Given the description of an element on the screen output the (x, y) to click on. 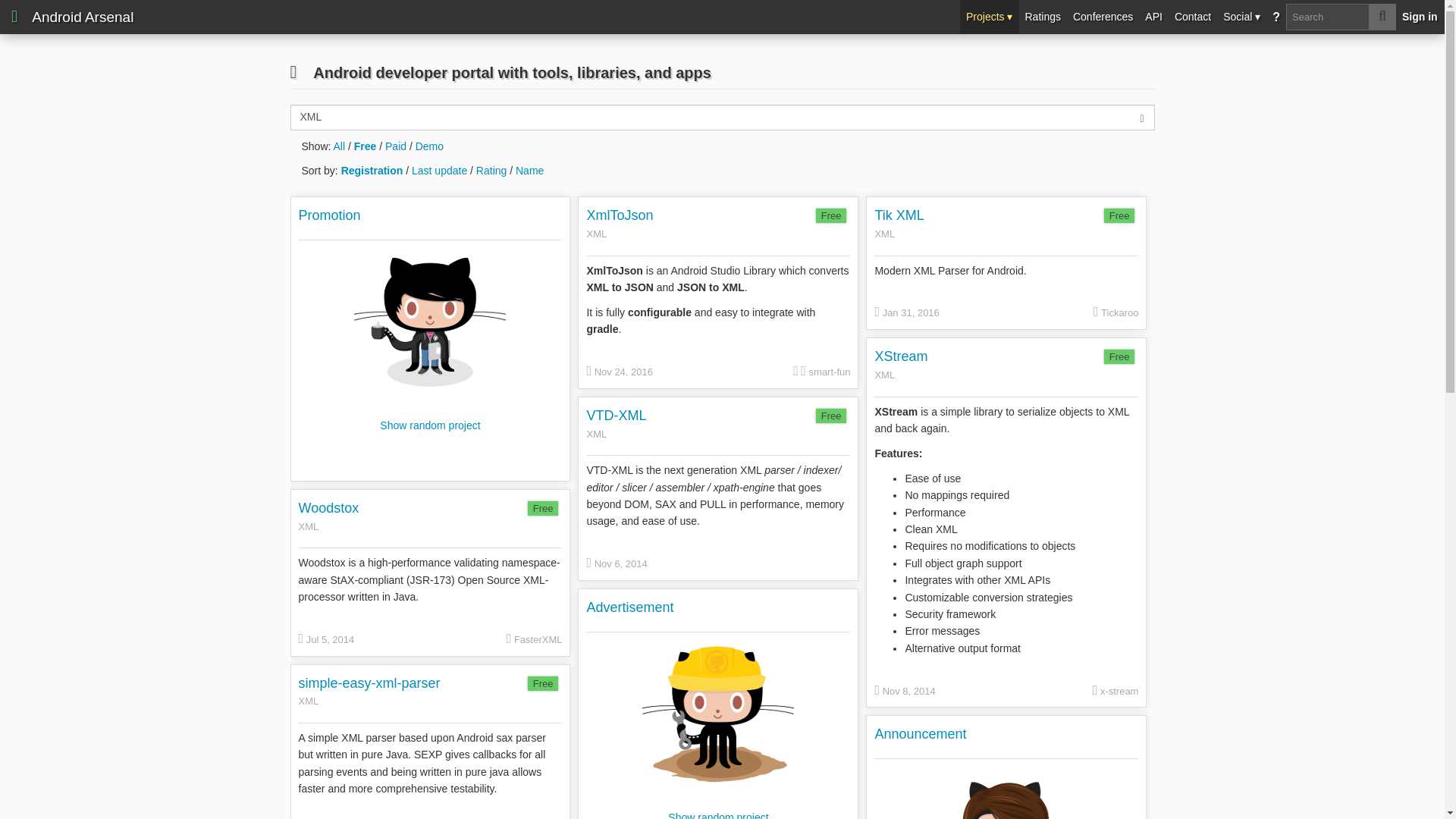
Last update (439, 170)
Registration (371, 170)
XML (901, 375)
? (1275, 17)
XML (899, 234)
Free (831, 215)
Show random project (430, 416)
Show demo (429, 146)
Show all (339, 146)
Demo (429, 146)
Sort by registration (371, 170)
All (339, 146)
XML (619, 234)
Conferences (1102, 17)
Free (1119, 356)
